Given the description of an element on the screen output the (x, y) to click on. 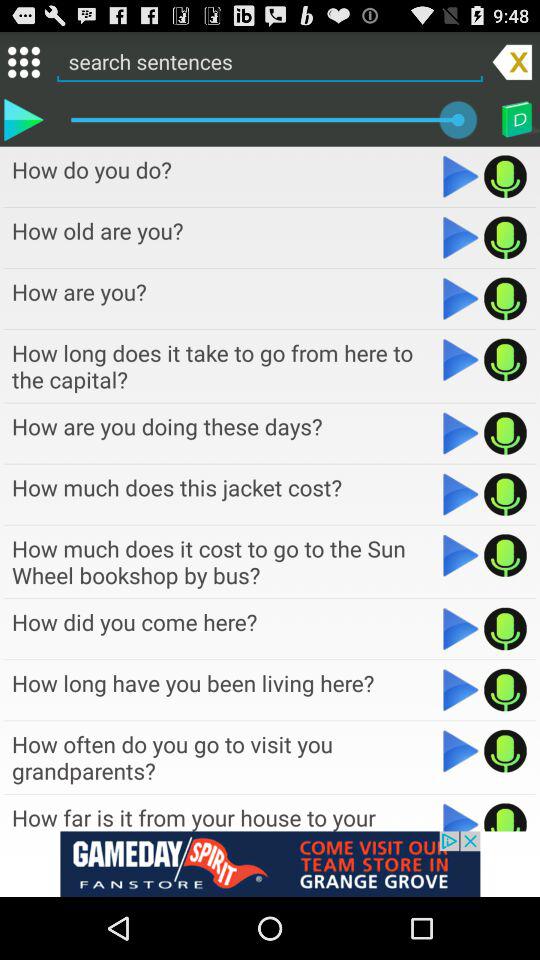
record sound (505, 751)
